Given the description of an element on the screen output the (x, y) to click on. 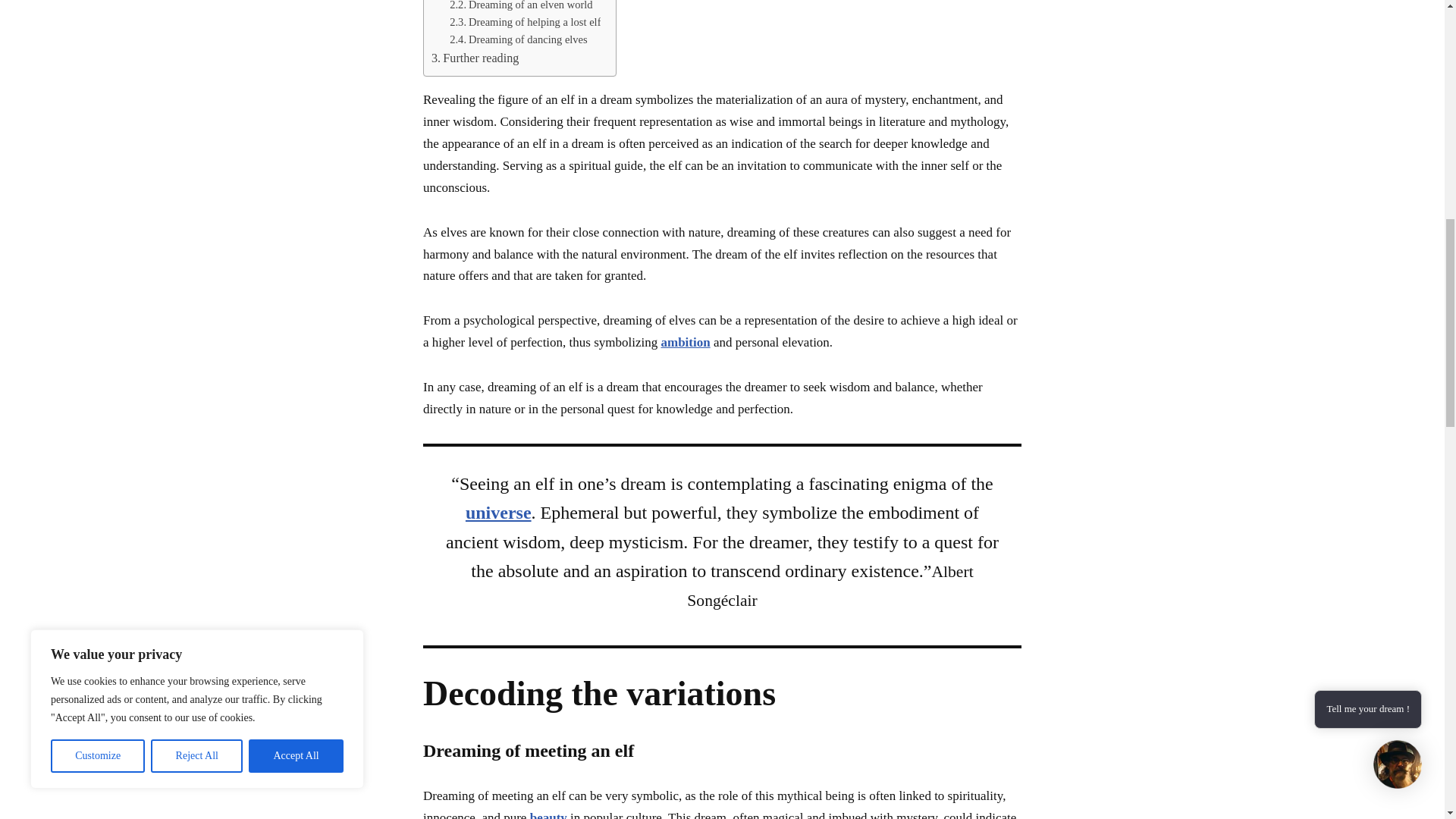
Dreaming of an elven world (520, 6)
Further reading (474, 57)
Dreaming of helping a lost elf (524, 22)
Dreaming of dancing elves (518, 39)
